Given the description of an element on the screen output the (x, y) to click on. 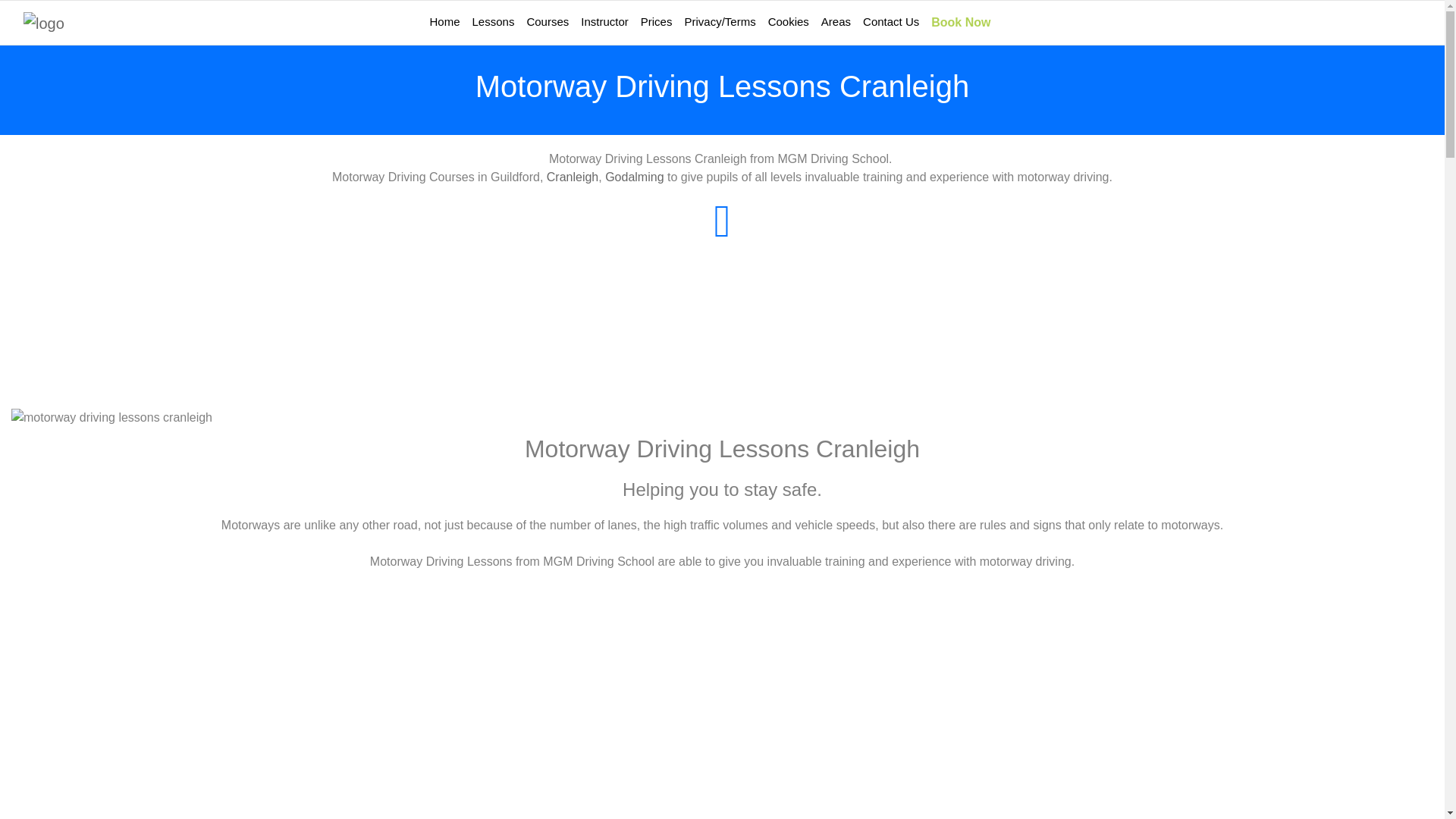
Godalming (634, 228)
Prices (691, 48)
Courses (583, 48)
Cookies (823, 48)
Lessons (528, 48)
Areas (870, 48)
Contact Us (925, 48)
Book Now (994, 48)
Instructor (639, 48)
Cranleigh (572, 228)
